Given the description of an element on the screen output the (x, y) to click on. 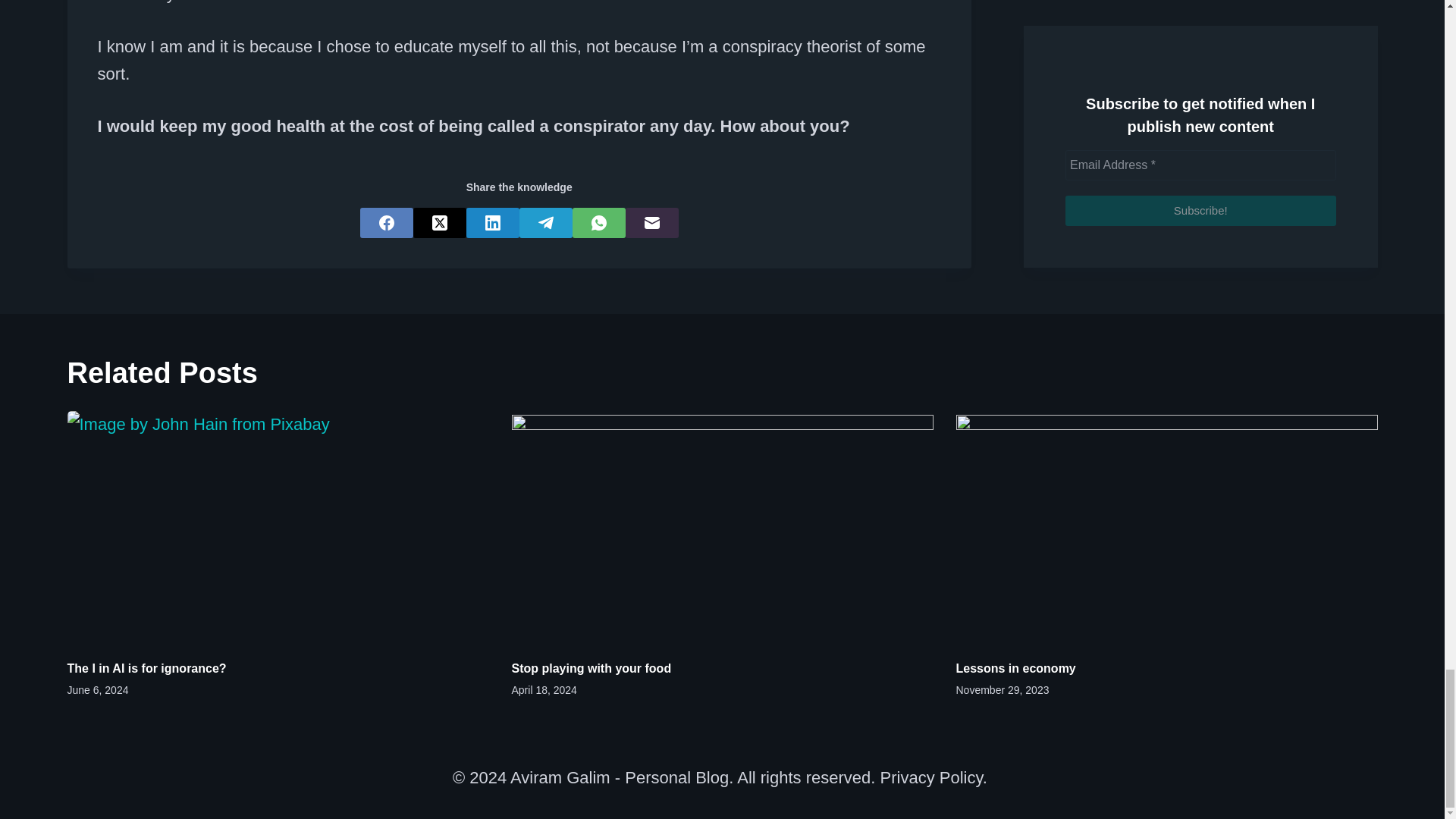
Stop playing with your food (591, 667)
Privacy Policy (931, 777)
The I in AI is for ignorance? (145, 667)
Lessons in economy (1015, 667)
